Given the description of an element on the screen output the (x, y) to click on. 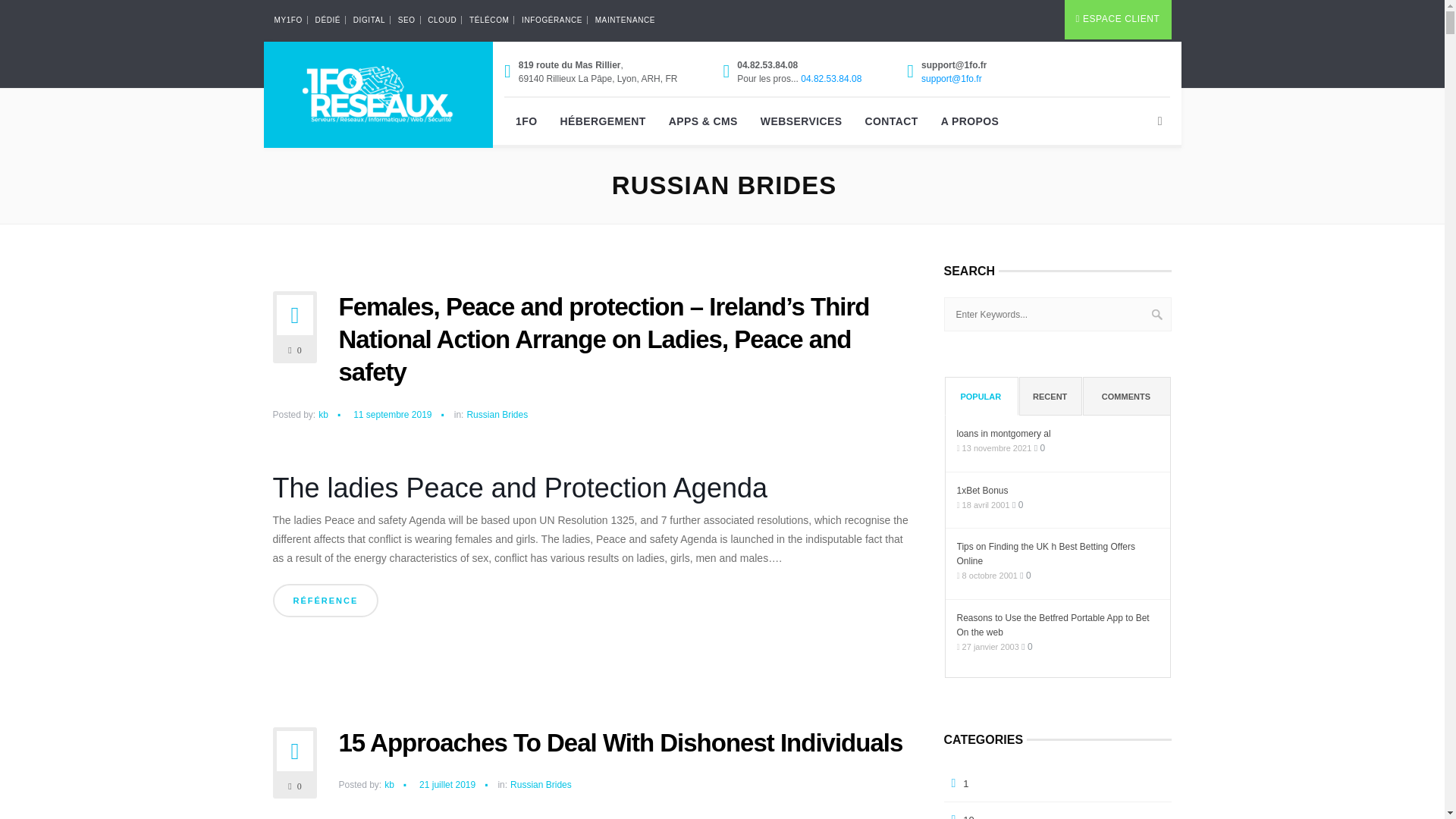
Web (369, 19)
1FO (525, 120)
DIGITAL (369, 19)
MY1FO (288, 19)
MAINTENANCE (625, 19)
ESPACE CLIENT (1118, 19)
04.82.53.84.08 (830, 78)
SEO (406, 19)
CLOUD (442, 19)
